Given the description of an element on the screen output the (x, y) to click on. 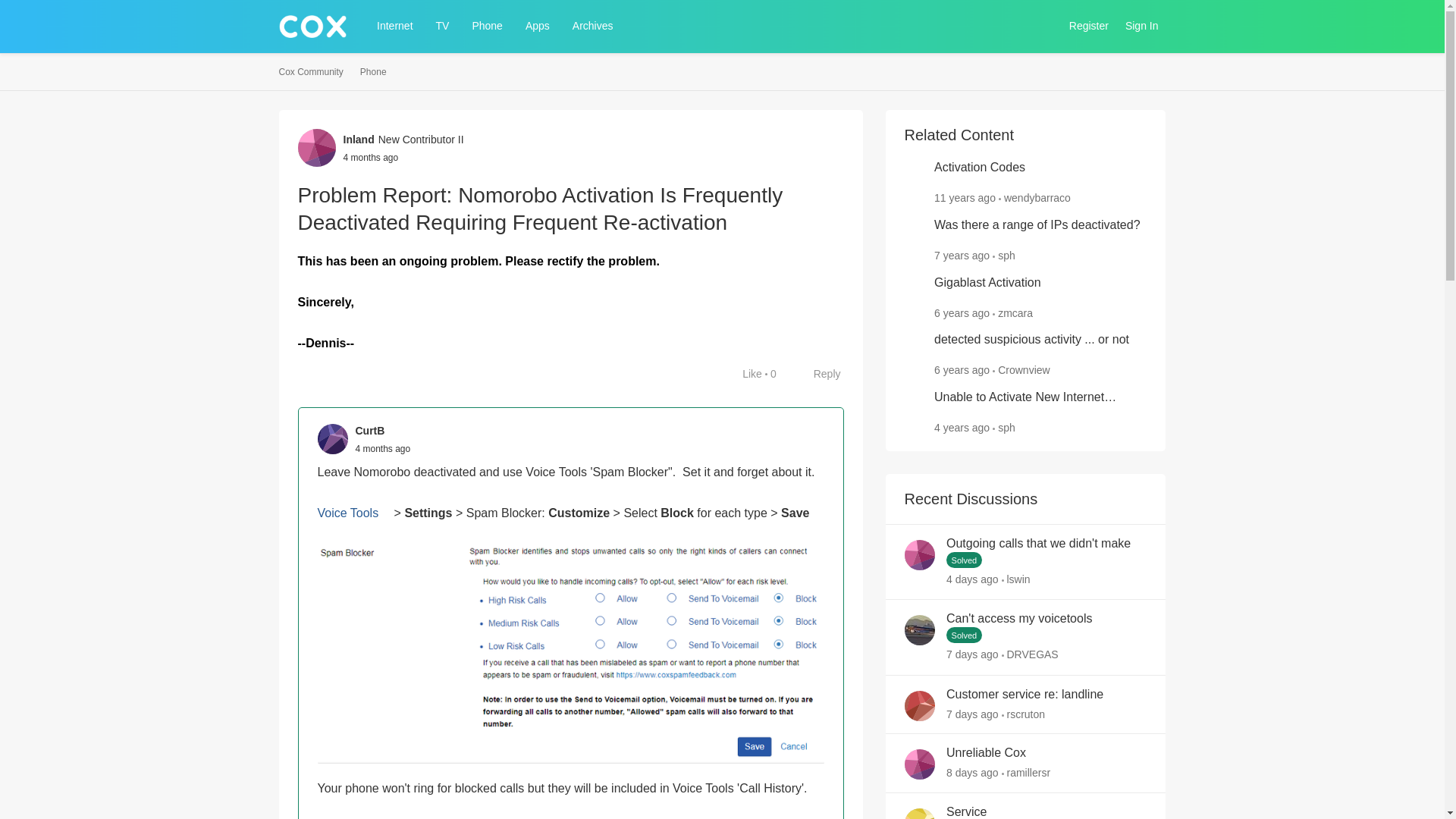
Can't access my voicetools (1019, 618)
Like (744, 373)
Activation Codes (979, 167)
Inland (358, 139)
June 2, 2014 at 10:52 PM (964, 197)
Outgoing calls that we didn't make (1038, 544)
August 17, 2020 at 3:52 AM (962, 427)
Apps (537, 26)
Phone (486, 26)
July 12, 2024 at 2:21 AM (972, 654)
4 months ago (382, 448)
Voice Tools (353, 512)
detected suspicious activity ... or not (1031, 340)
March 22, 2024 at 7:40 PM (369, 156)
Search (1043, 26)
